Given the description of an element on the screen output the (x, y) to click on. 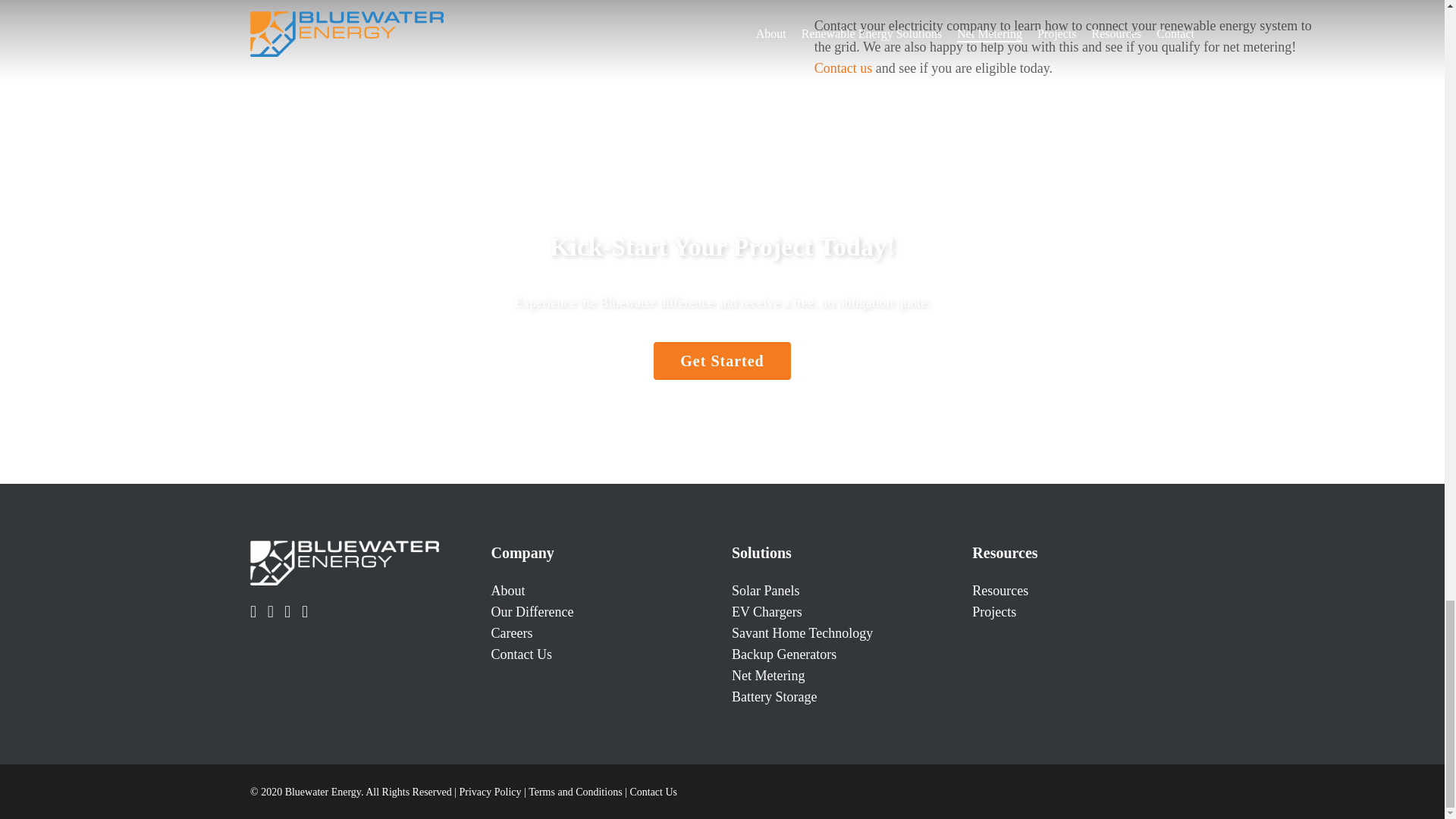
Net Metering (768, 675)
Backup Generators (783, 654)
EV Chargers (767, 611)
Contact Us (520, 654)
Resources (999, 590)
Privacy Policy (490, 791)
Contact us (842, 68)
Our Difference (531, 611)
About (507, 590)
Battery Storage (774, 696)
Projects (994, 611)
Get Started (721, 361)
Savant Home Technology (802, 632)
Careers (511, 632)
Solar Panels (765, 590)
